Given the description of an element on the screen output the (x, y) to click on. 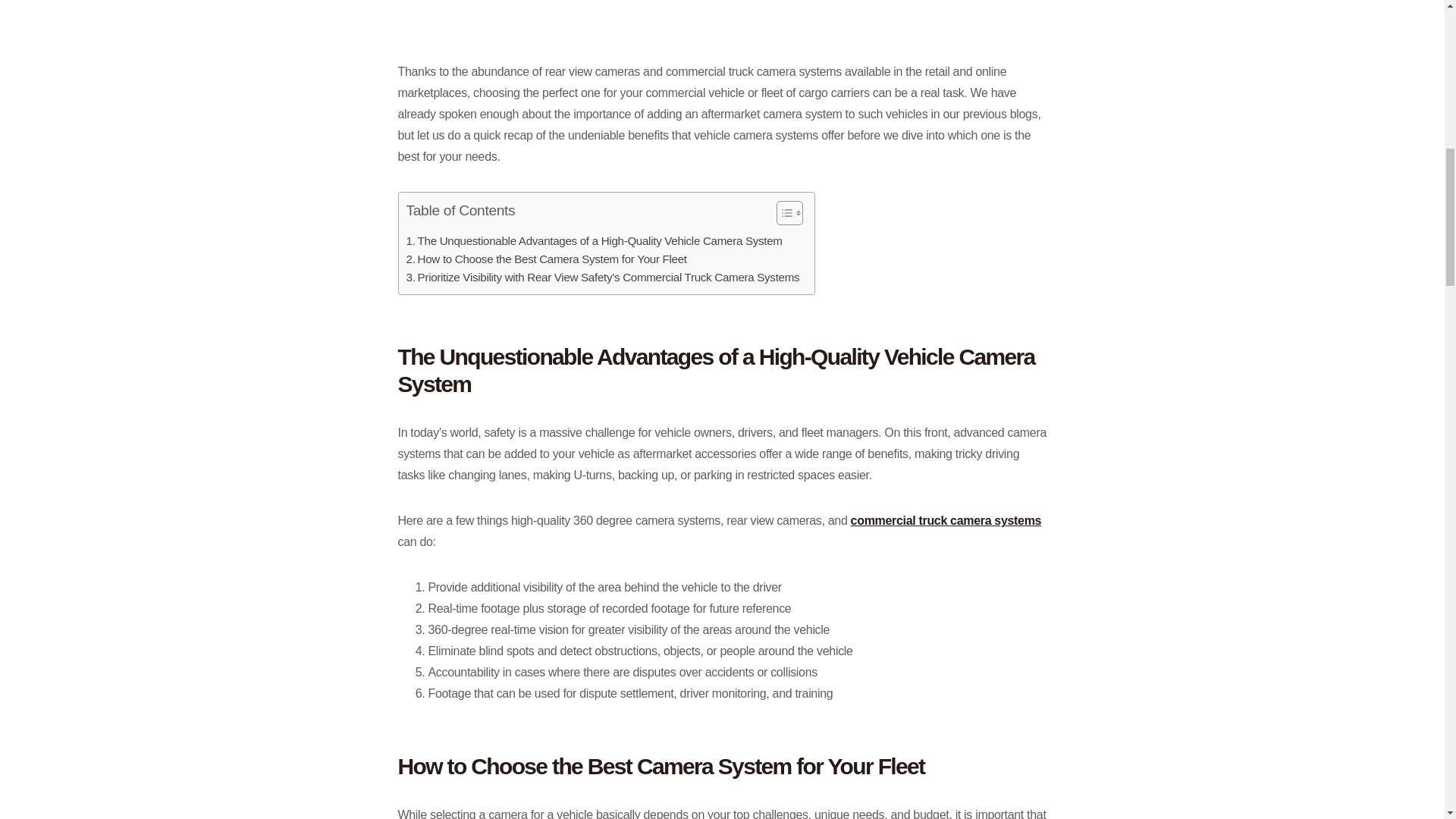
How to Choose the Best Camera System for Your Fleet (546, 259)
Advertisement (721, 18)
